Given the description of an element on the screen output the (x, y) to click on. 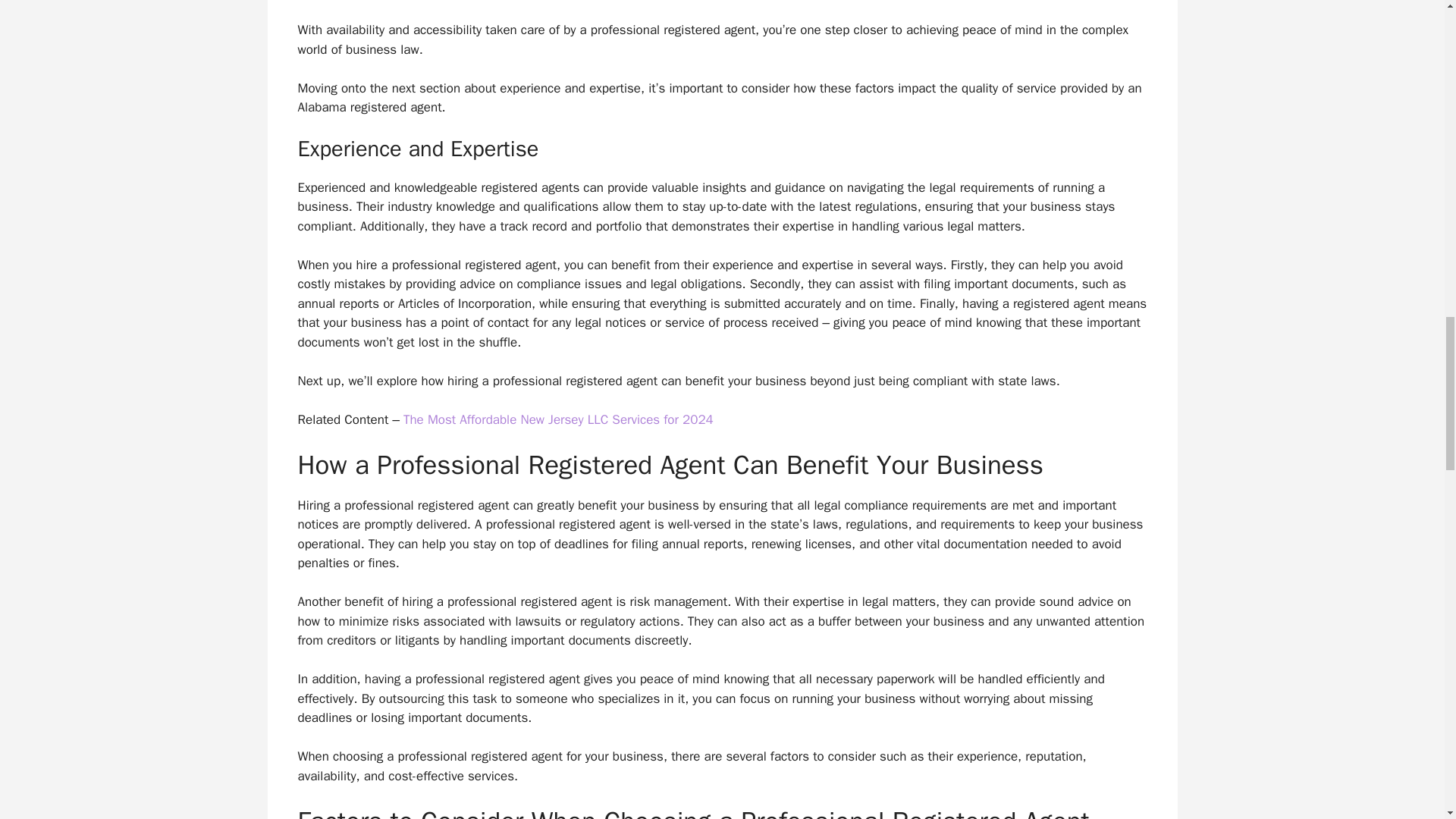
The Most Affordable New Jersey LLC Services for 2024 (558, 419)
